Given the description of an element on the screen output the (x, y) to click on. 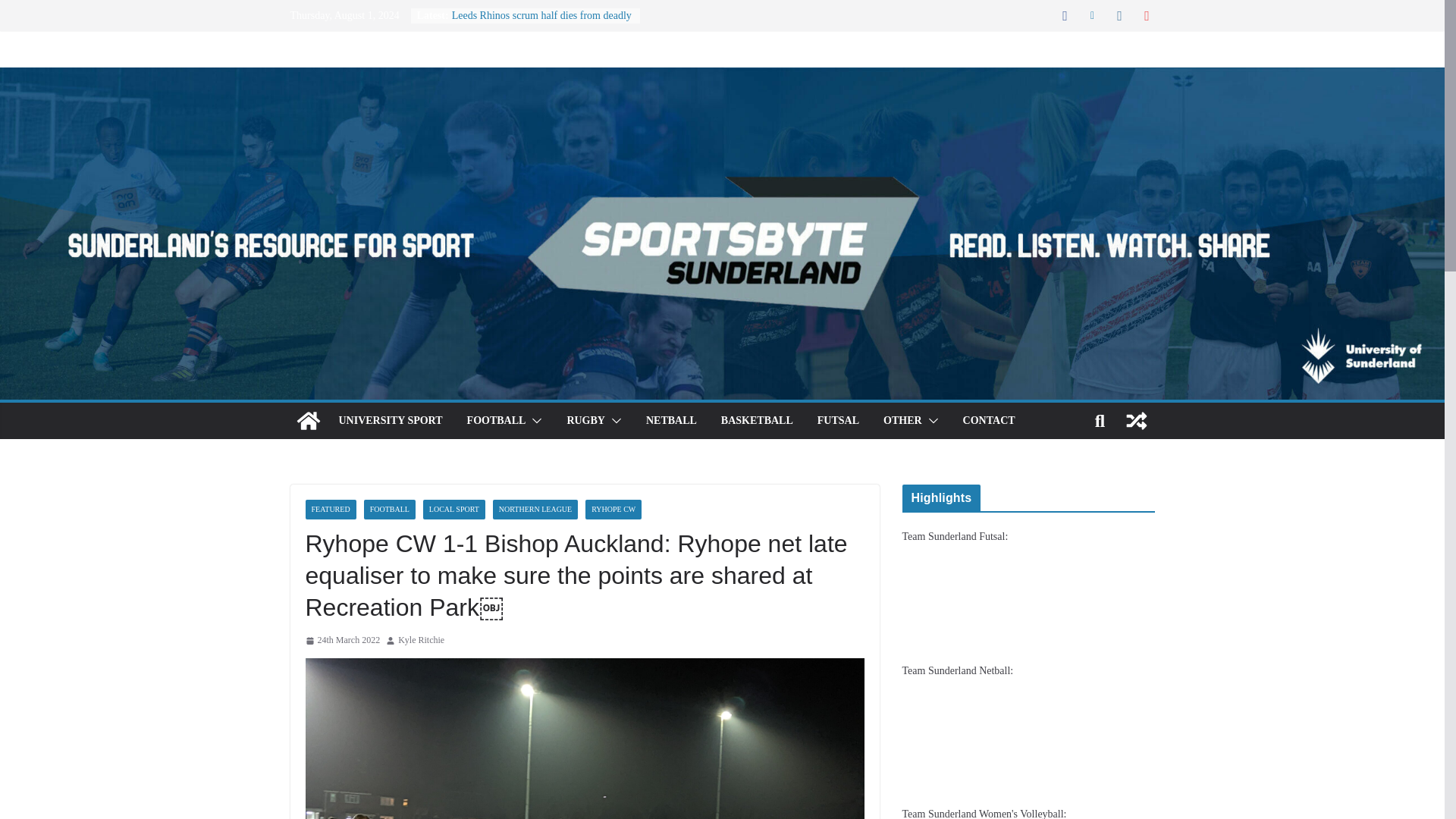
FUTSAL (837, 420)
UNIVERSITY SPORT (389, 420)
Kyle Ritchie (420, 640)
Leeds Rhinos scrum half dies from deadly disease (541, 22)
Leeds Rhinos scrum half dies from deadly disease (541, 22)
SportsByte (307, 420)
OTHER (902, 420)
BASKETBALL (756, 420)
FOOTBALL (496, 420)
View a random post (1136, 420)
RUGBY (585, 420)
12:12 pm (342, 640)
NETBALL (671, 420)
